Given the description of an element on the screen output the (x, y) to click on. 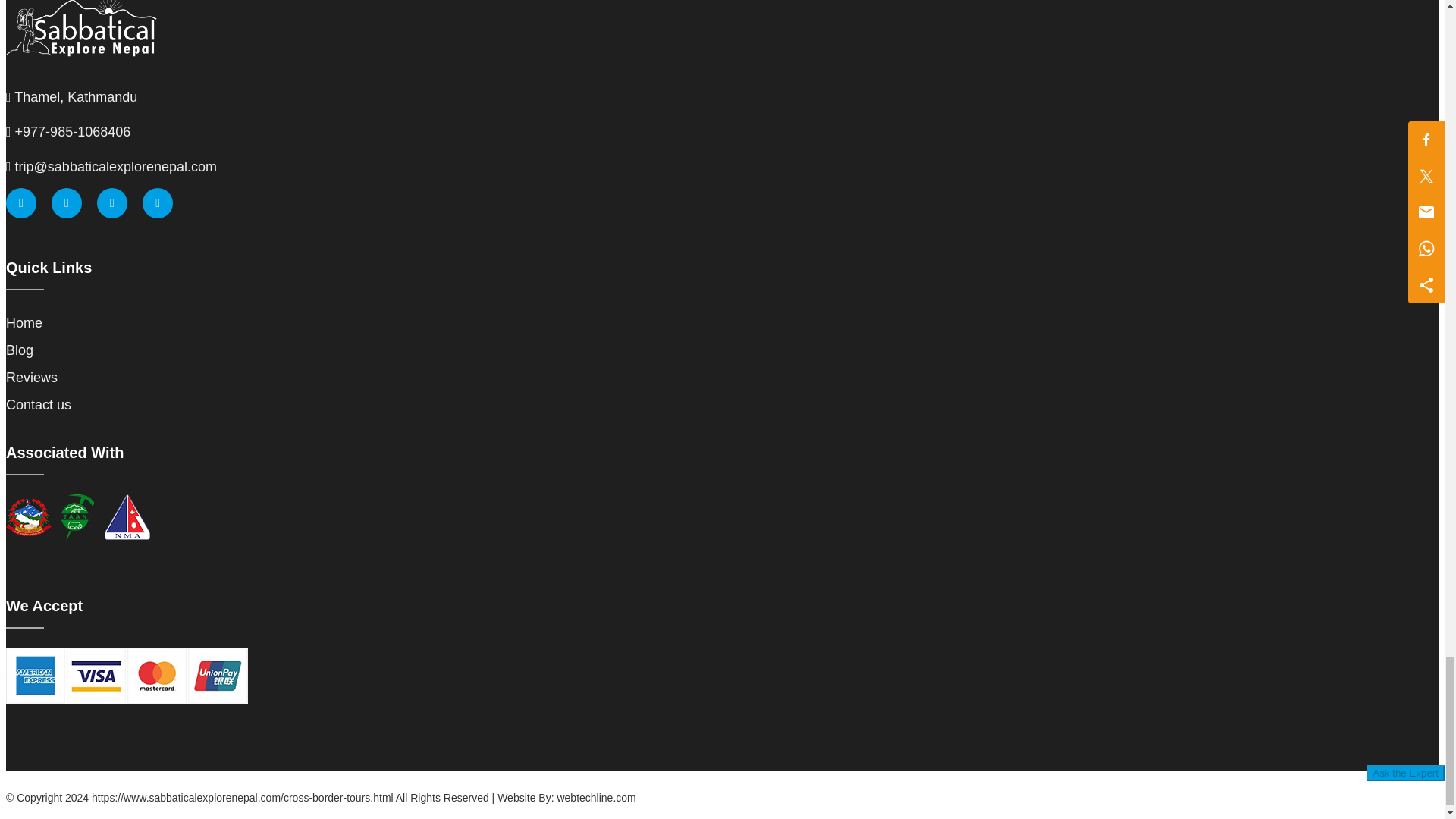
Facebook (20, 202)
You Tube (157, 202)
Twitter (65, 202)
